Given the description of an element on the screen output the (x, y) to click on. 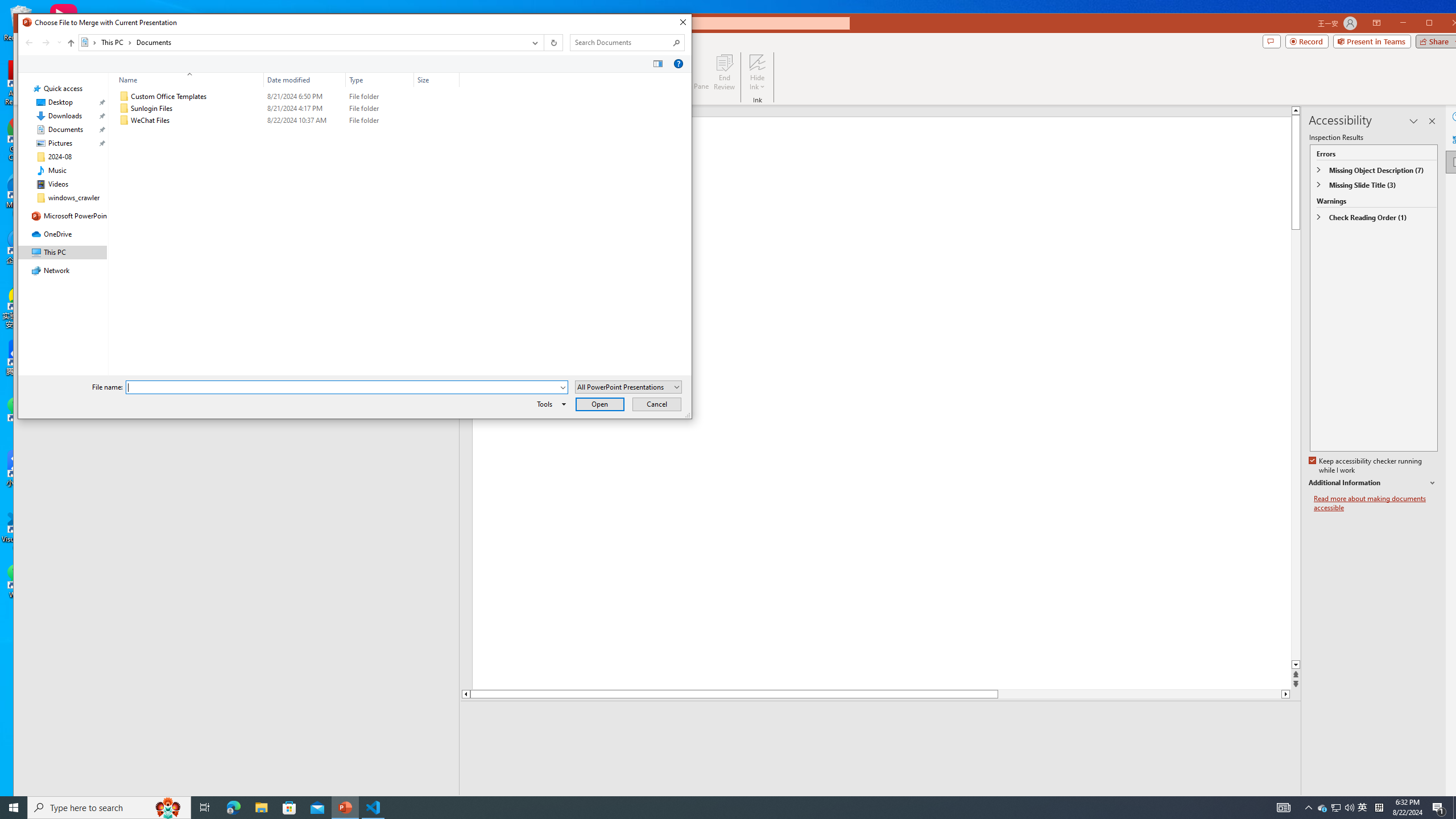
Name (186, 79)
Hide Ink (757, 61)
Size (436, 79)
Refresh "Documents" (F5) (552, 42)
Slide Show Next On (1253, 802)
Q2790: 100% (1349, 807)
Forward (Alt + Right Arrow) (46, 42)
Tools (549, 404)
Recent locations (58, 42)
Task View (204, 807)
Name (196, 120)
Command Module (354, 63)
